Given the description of an element on the screen output the (x, y) to click on. 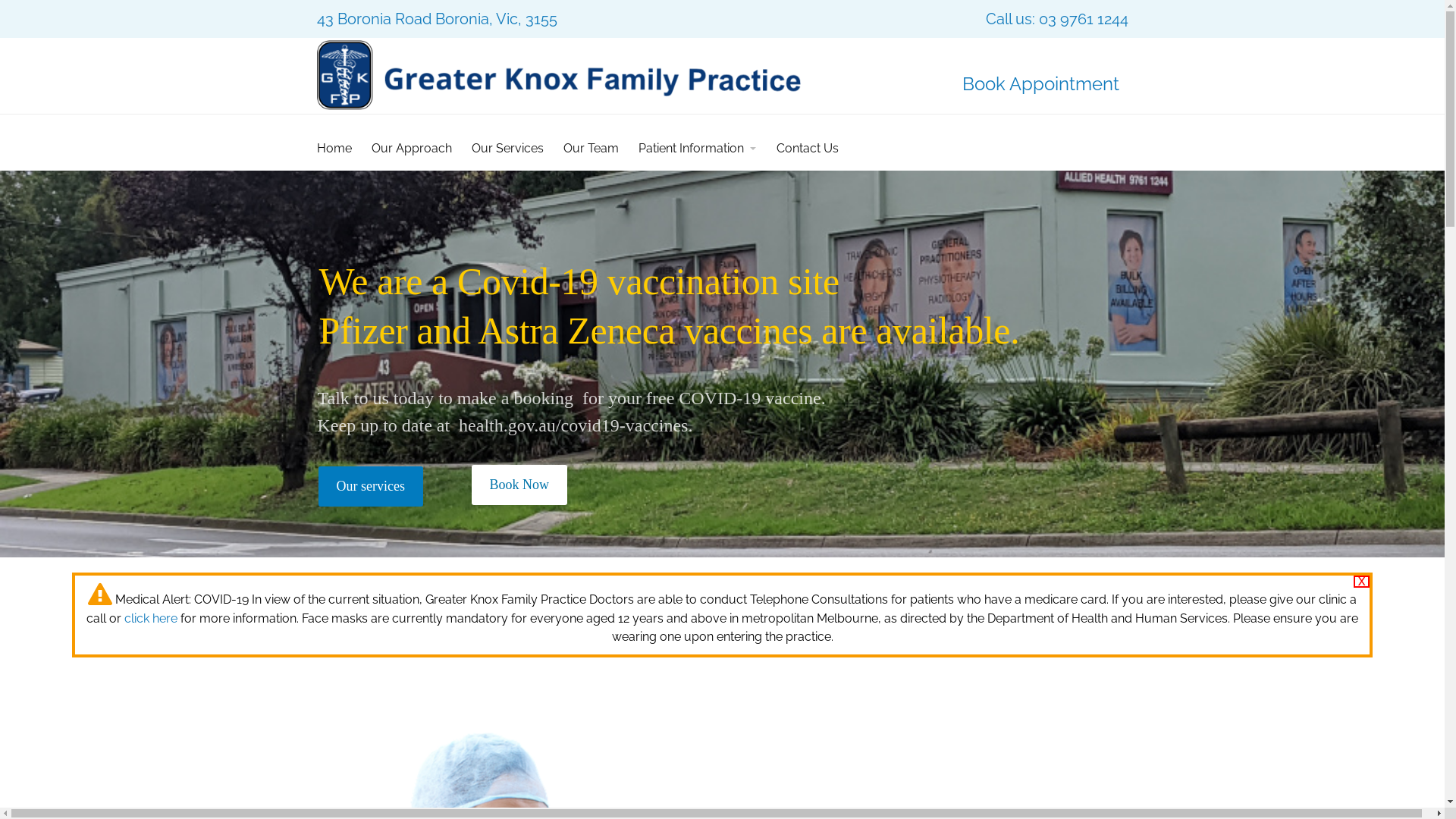
Home Element type: text (338, 148)
Contact Us Element type: text (806, 148)
Our Team Element type: text (590, 148)
Our Services Element type: text (506, 148)
X Element type: text (1361, 581)
Our Approach Element type: text (410, 148)
Patient Information Element type: text (696, 148)
43 Boronia Road Boronia, Vic, 3155 Element type: text (436, 18)
Book Appointment Element type: text (1039, 83)
click here Element type: text (150, 618)
Book Now Element type: text (519, 484)
Our services Element type: text (370, 486)
Call us: 03 9761 1244 Element type: text (1056, 18)
health.gov.au/covid19-vaccines Element type: text (570, 425)
